Given the description of an element on the screen output the (x, y) to click on. 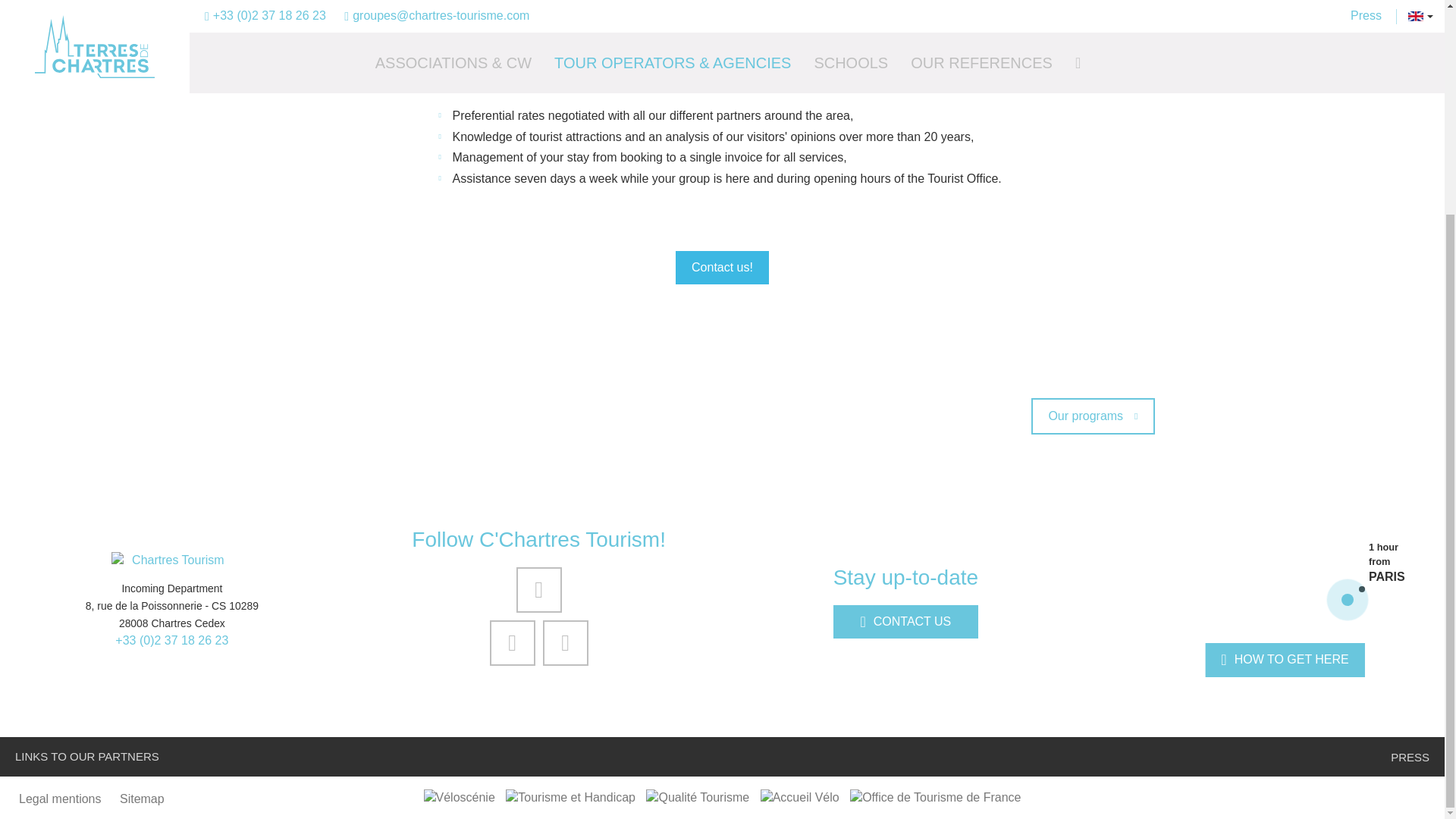
Chartres Tourism (172, 560)
Chartres Tourism (172, 560)
Tourisme et Handicap (569, 796)
Office de Tourisme de France (935, 796)
